Given the description of an element on the screen output the (x, y) to click on. 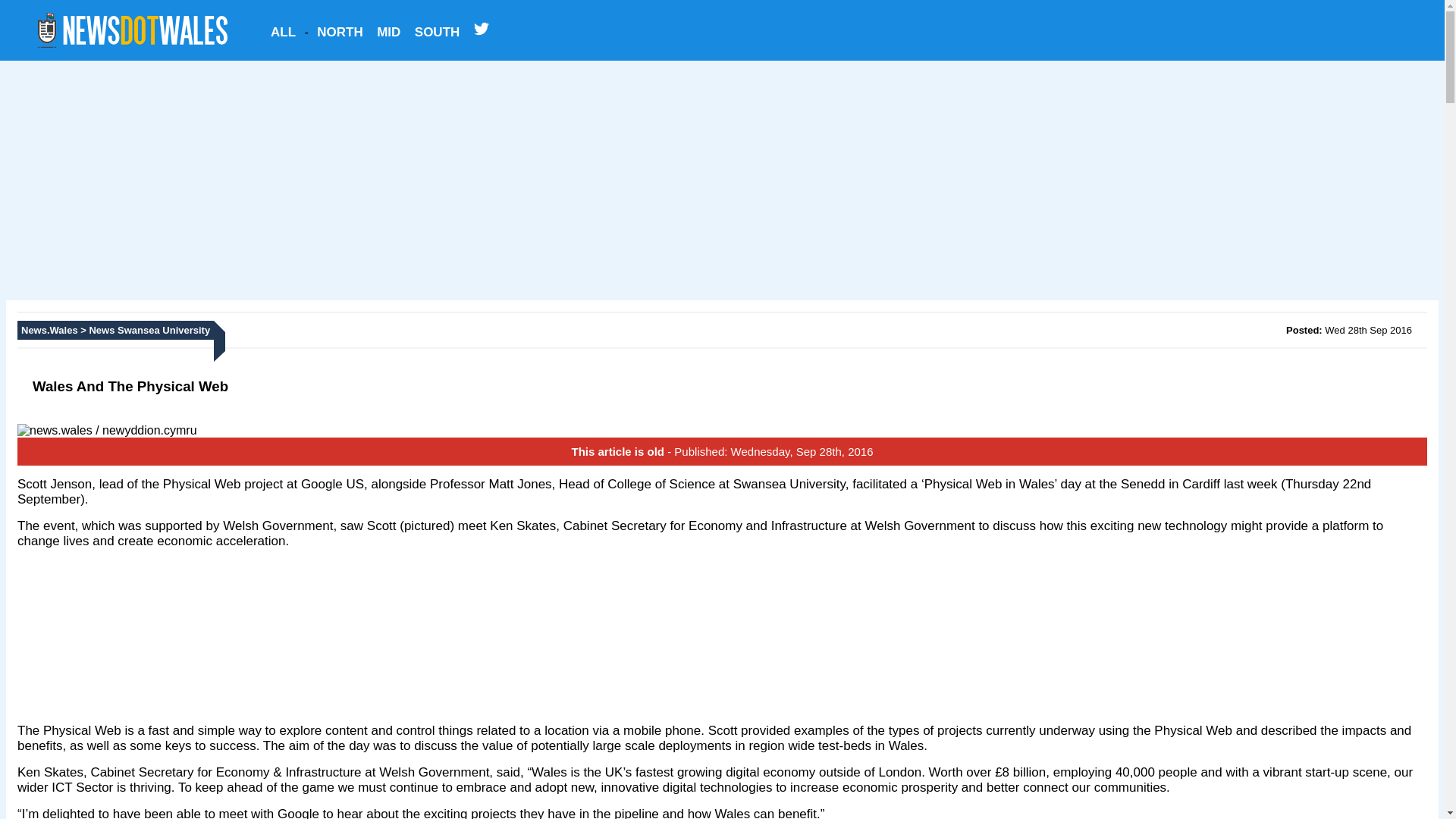
SOUTH (437, 31)
MID (388, 31)
NORTH (339, 31)
ALL (282, 31)
